Given the description of an element on the screen output the (x, y) to click on. 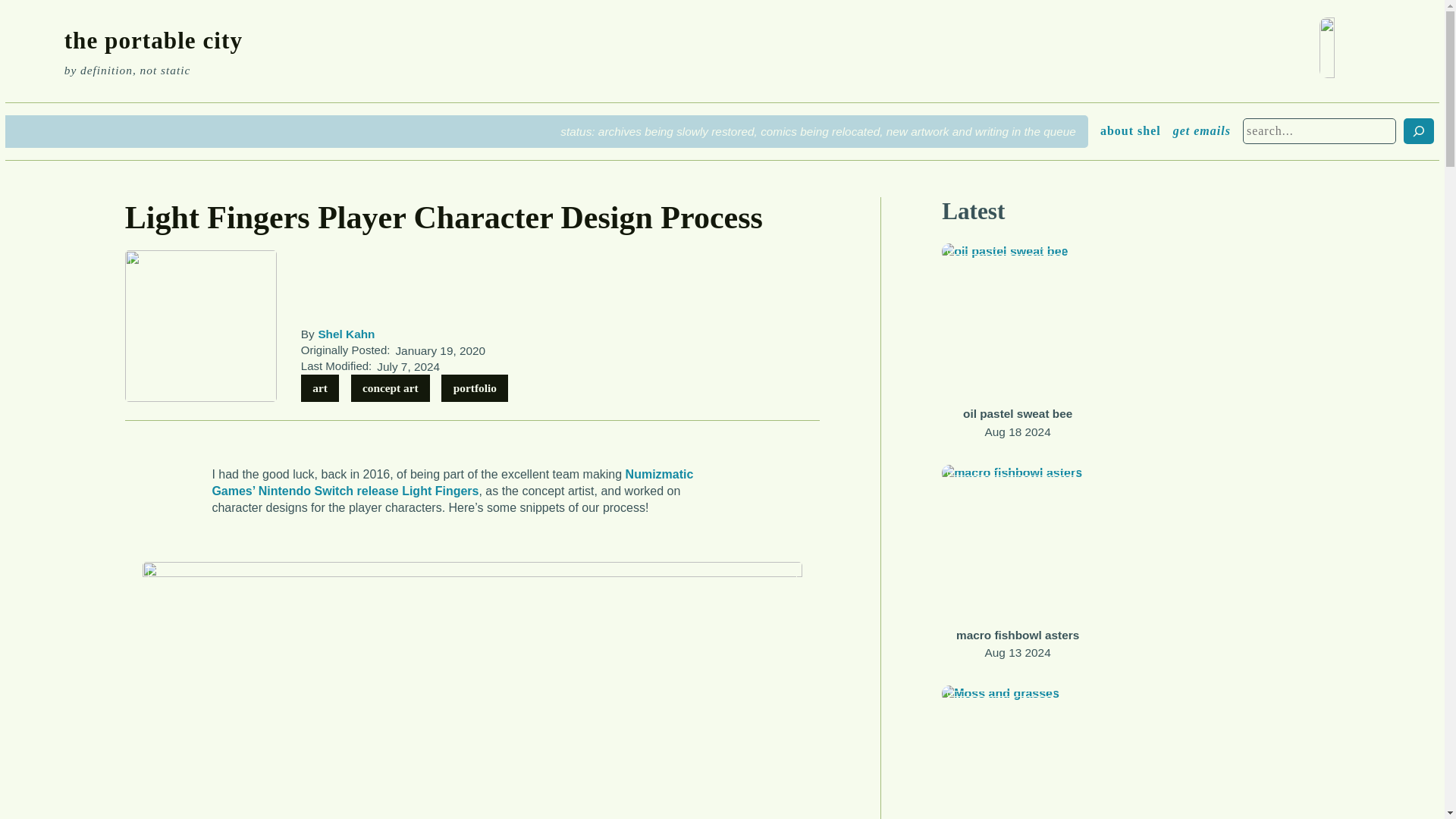
macro fishbowl asters (1017, 635)
get emails (1201, 130)
portfolio (474, 388)
concept art (390, 388)
art (320, 388)
Shel Kahn (345, 333)
about shel (1130, 130)
oil pastel sweat bee (1016, 413)
the portable city (153, 40)
